Given the description of an element on the screen output the (x, y) to click on. 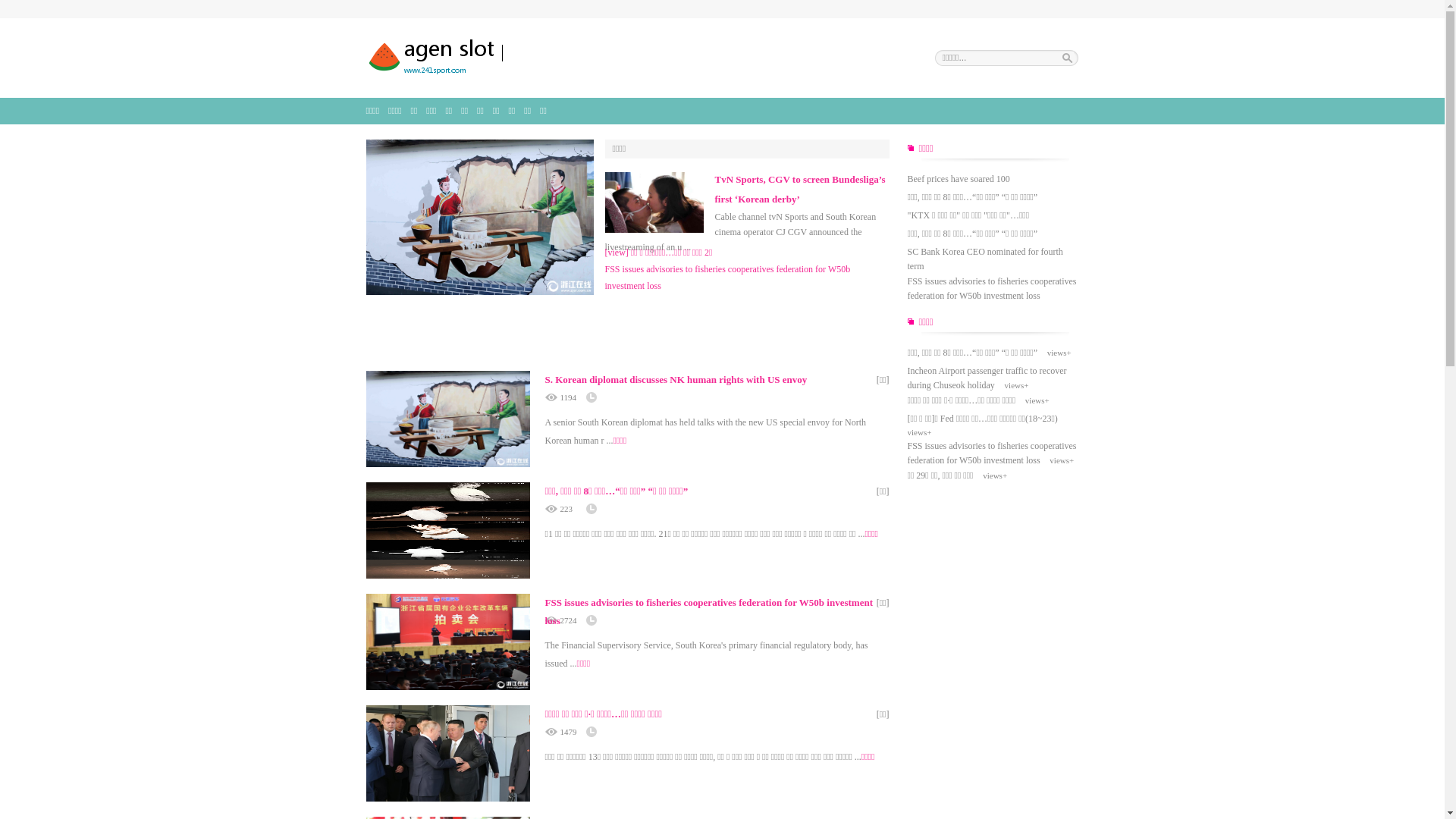
S. Korean diplomat discusses NK human rights with US envoy Element type: text (675, 379)
SC Bank Korea CEO nominated for fourth term Element type: text (984, 258)
Beef prices have soared 100 Element type: text (957, 178)
